Given the description of an element on the screen output the (x, y) to click on. 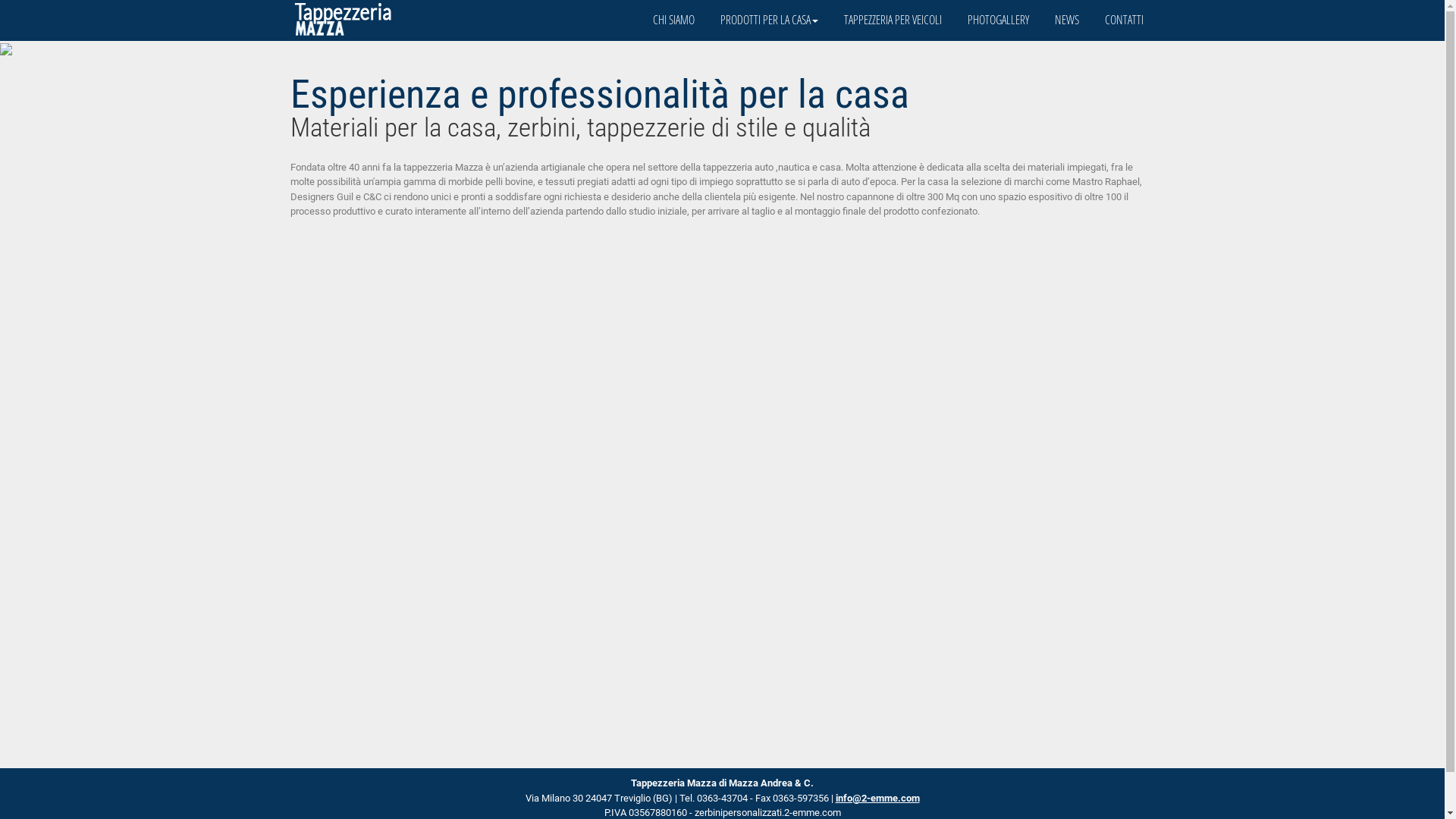
PHOTOGALLERY Element type: text (997, 19)
TAPPEZZERIA PER VEICOLI Element type: text (892, 19)
CHI SIAMO Element type: text (673, 19)
NEWS Element type: text (1066, 19)
info@2-emme.com Element type: text (877, 797)
zerbinipersonalizzati.2-emme.com Element type: text (767, 812)
PRODOTTI PER LA CASA Element type: text (768, 19)
CONTATTI Element type: text (1123, 19)
